Given the description of an element on the screen output the (x, y) to click on. 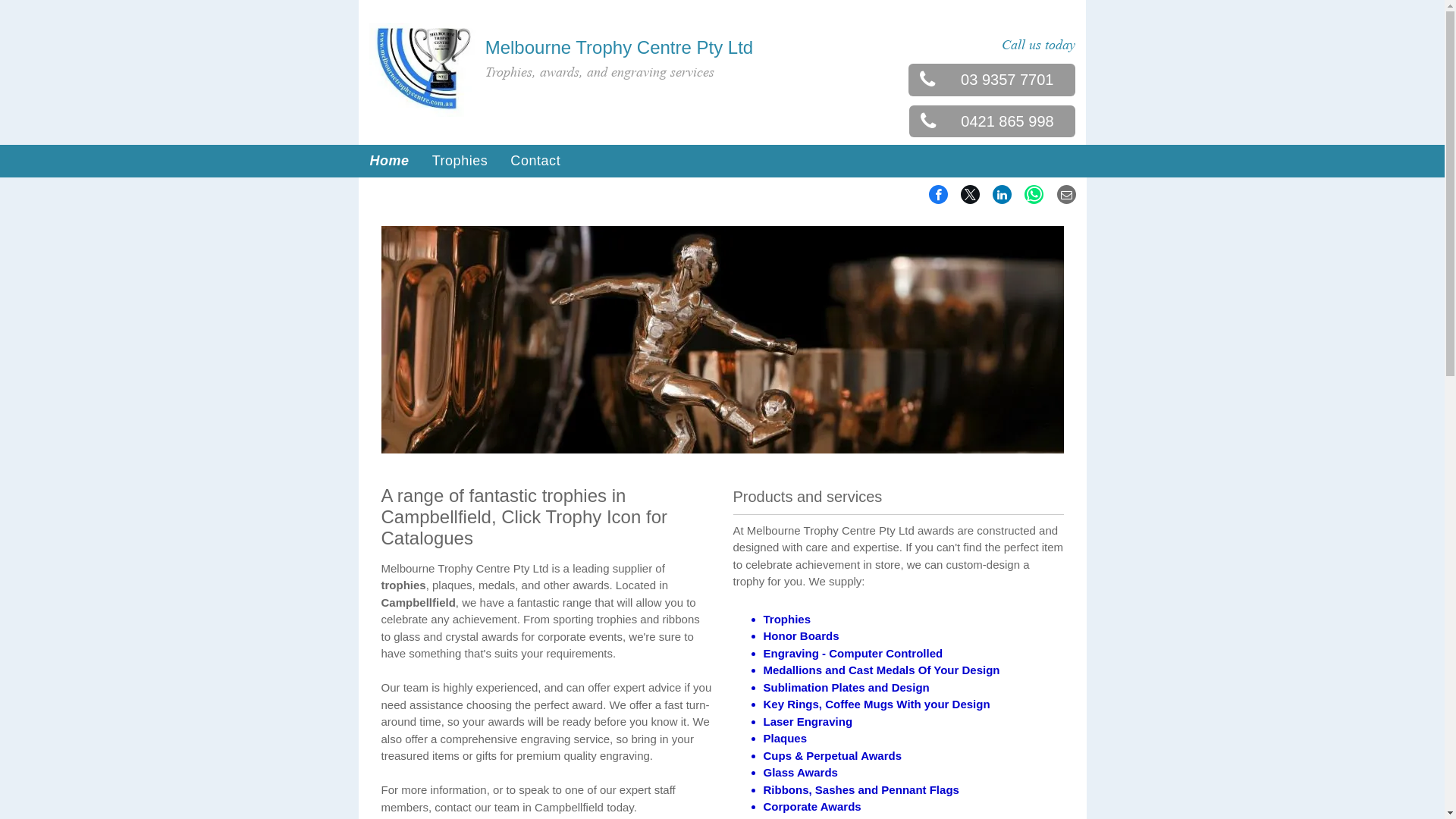
Logo Element type: hover (422, 69)
Home Element type: text (388, 160)
03 9357 7701 Element type: text (991, 79)
Contact Element type: text (534, 160)
0421 865 998 Element type: text (992, 120)
Trophies Element type: text (459, 160)
